Given the description of an element on the screen output the (x, y) to click on. 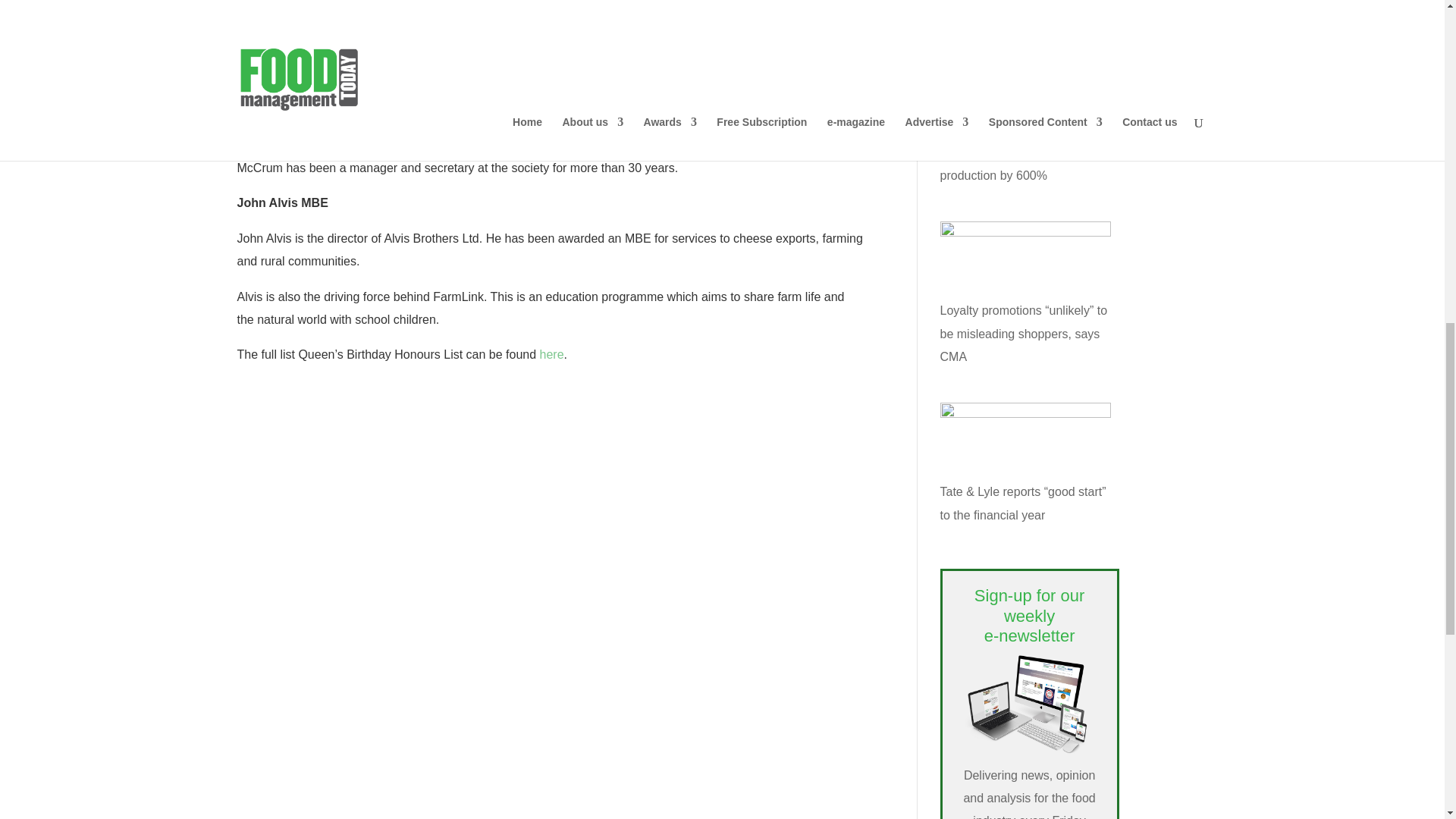
here (552, 354)
